Given the description of an element on the screen output the (x, y) to click on. 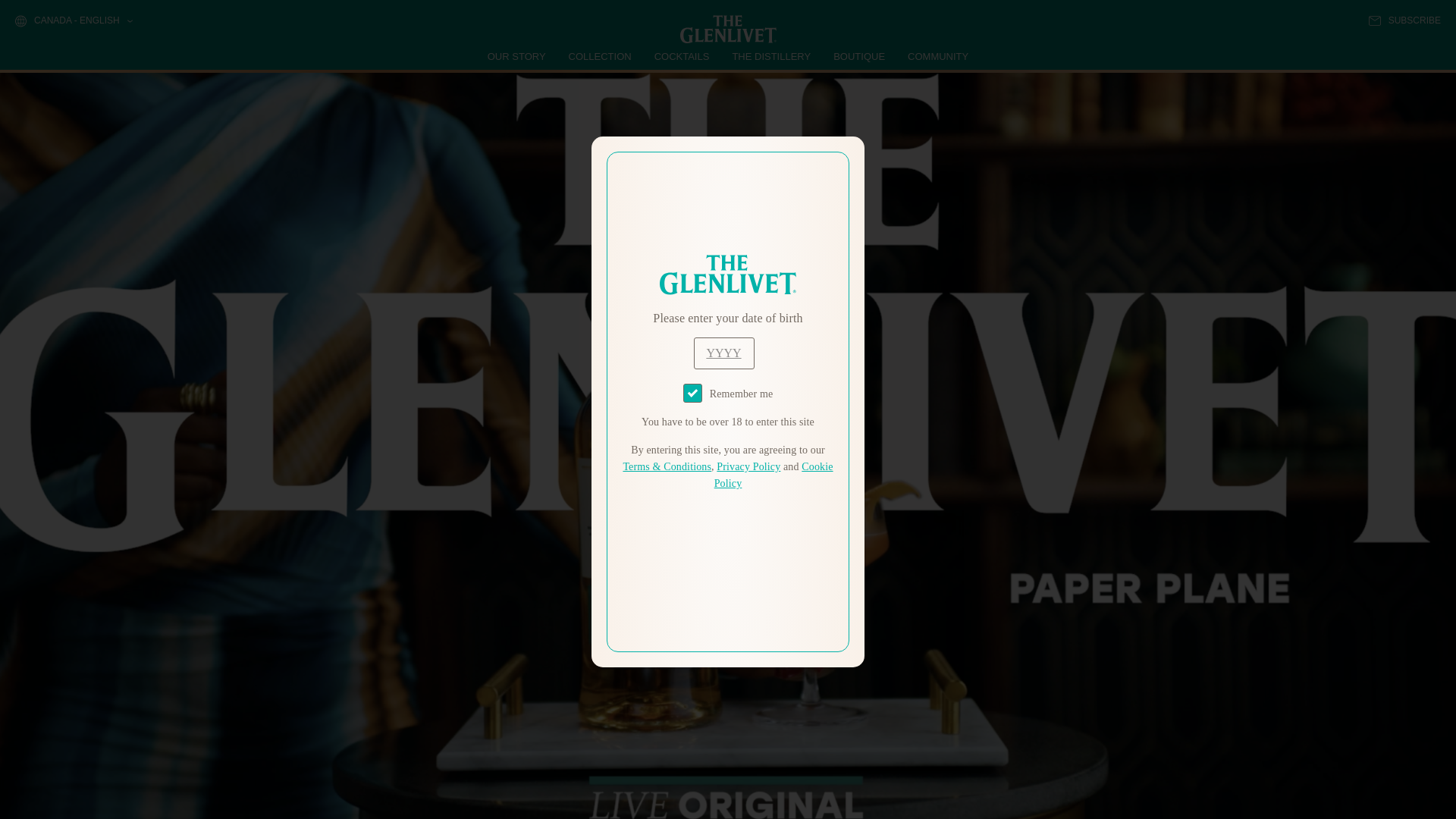
OUR STORY (516, 56)
BOUTIQUE (858, 56)
Privacy Policy (748, 466)
CANADA - ENGLISH (73, 21)
THE DISTILLERY (771, 56)
SUBSCRIBE (1404, 20)
COCKTAILS (681, 56)
COLLECTION (600, 56)
Cookie Policy (773, 474)
year (723, 353)
